Given the description of an element on the screen output the (x, y) to click on. 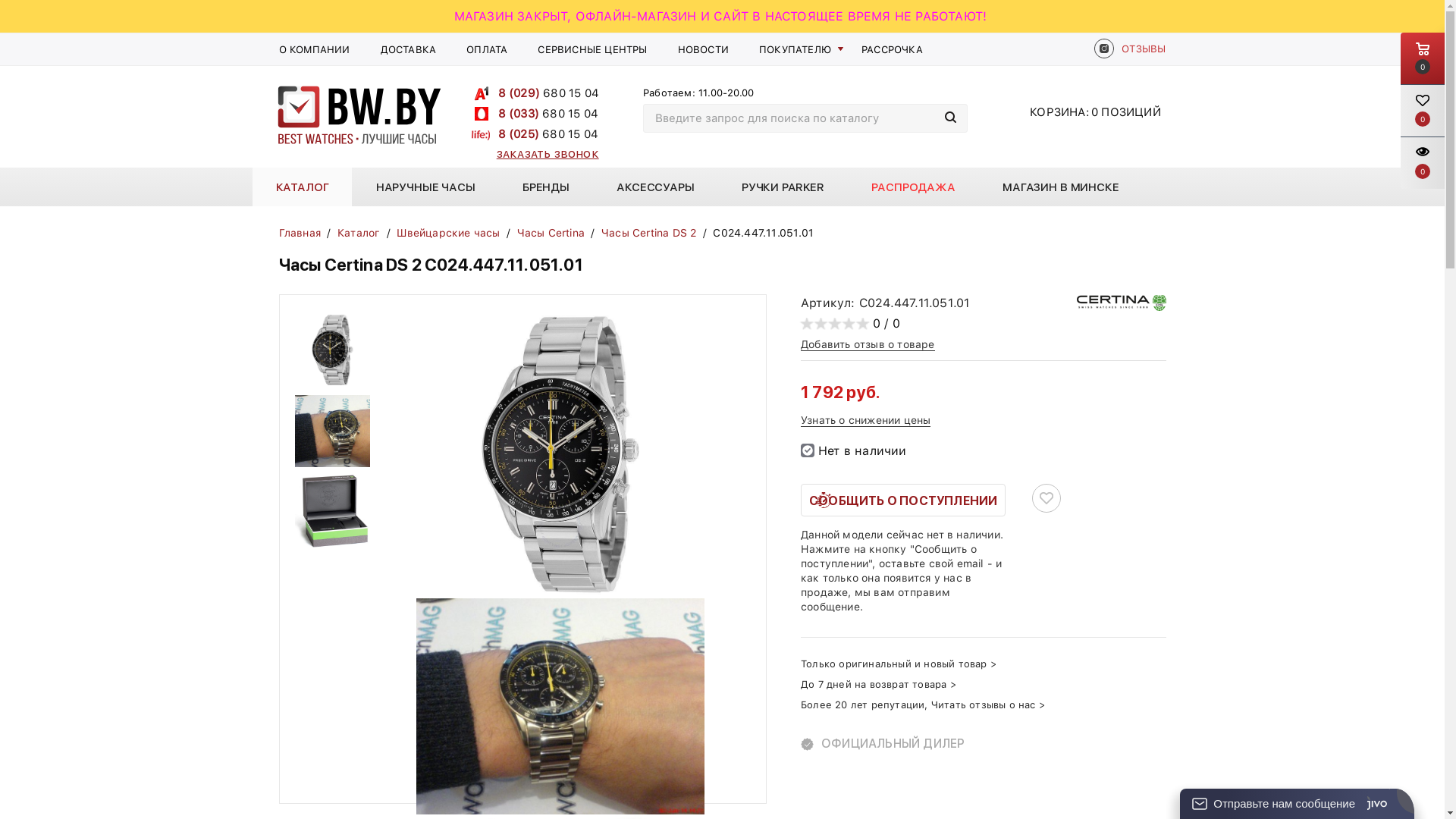
8 (033) 680 15 04 Element type: text (547, 113)
C024.447.11.051.01 Element type: hover (560, 454)
Search Element type: hover (950, 117)
bw_logo Element type: hover (357, 115)
8 (025) 680 15 04 Element type: text (547, 134)
8 (029) 680 15 04 Element type: text (547, 93)
facebook Element type: hover (1103, 49)
C024.447.11.051.01 Element type: hover (560, 706)
